Given the description of an element on the screen output the (x, y) to click on. 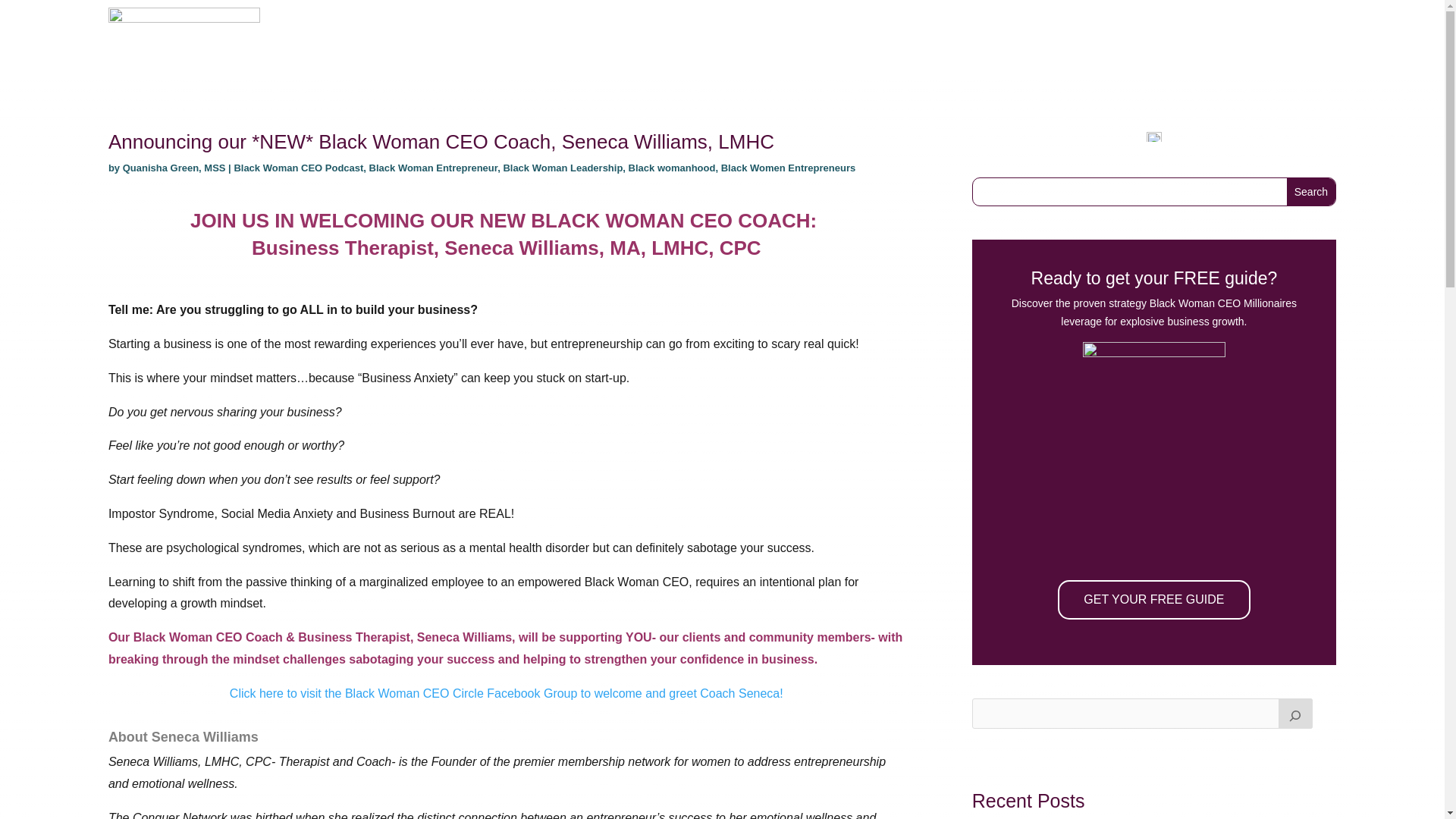
Black Woman Entrepreneur (433, 167)
Search (1311, 191)
Black womanhood (672, 167)
Posts by Quanisha Green, MSS (173, 167)
Black Woman Leadership (562, 167)
Black Women Entrepreneurs (788, 167)
logo (183, 37)
Quanisha Green, MSS (173, 167)
GET YOUR FREE GUIDE (1153, 599)
Search (1311, 191)
